Given the description of an element on the screen output the (x, y) to click on. 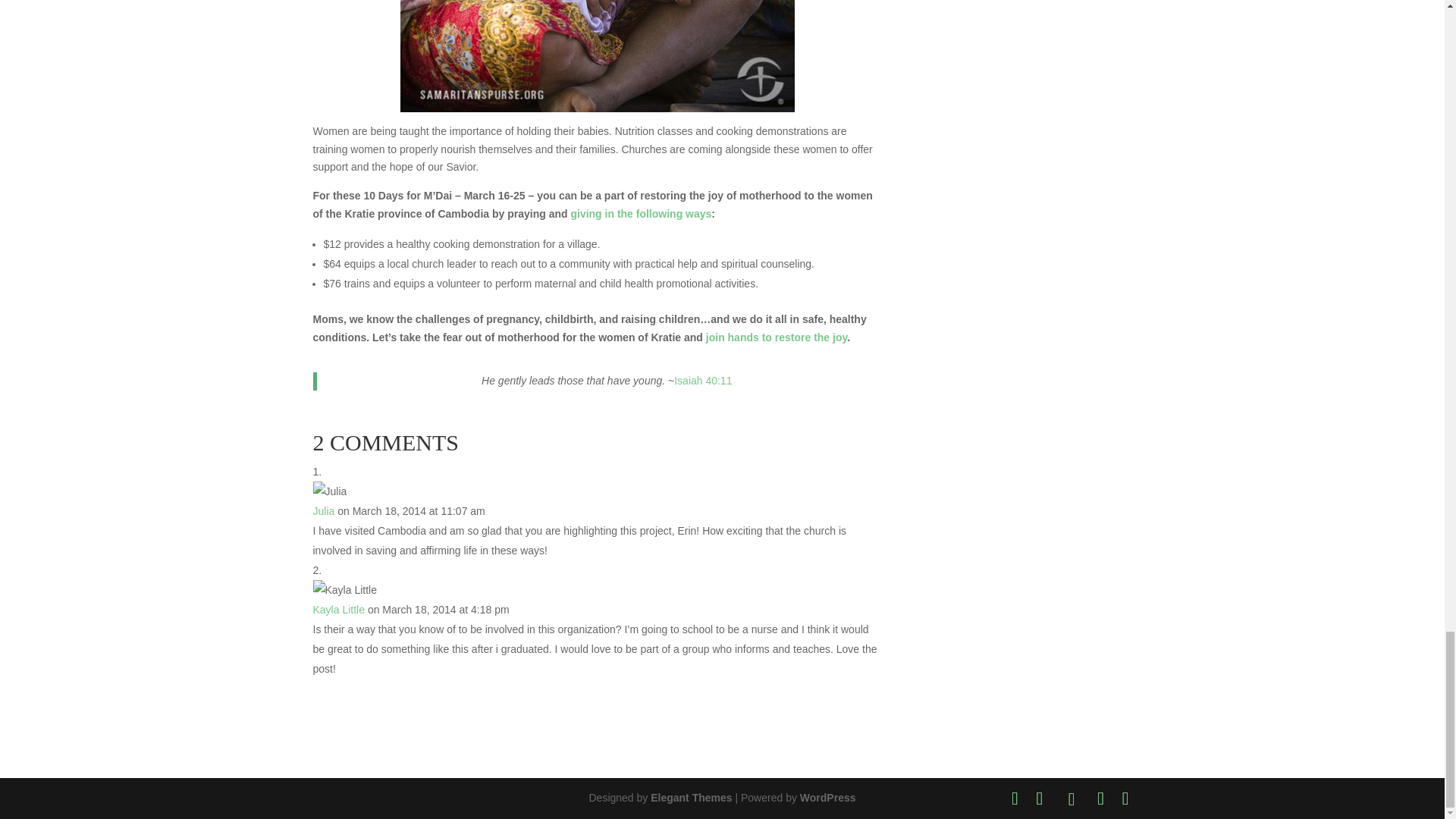
Premium WordPress Themes (691, 797)
